Given the description of an element on the screen output the (x, y) to click on. 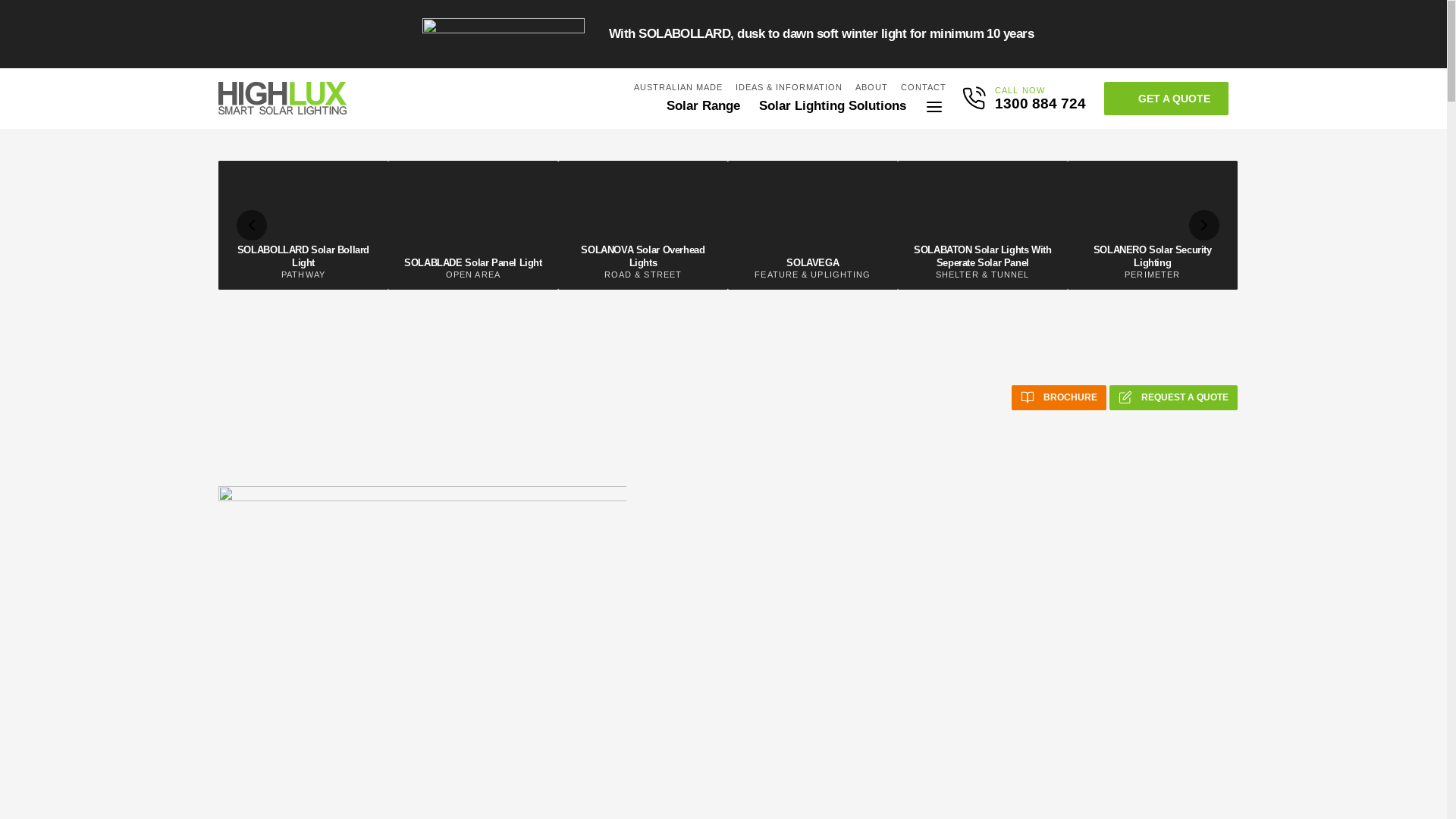
SOLABOLLARD Solar Bollard Light Element type: text (303, 256)
SOLANOVA Solar Overhead Lights Element type: text (642, 256)
SOLABATON Solar Lights With Seperate Solar Panel Element type: text (982, 256)
BROCHURE Element type: text (1058, 397)
CONTACT Element type: text (923, 84)
ABOUT Element type: text (871, 84)
Solar Range Element type: text (702, 105)
SOLANERO Solar Security Lighting Element type: text (1152, 256)
SOLAVEGA Element type: text (812, 262)
REQUEST A QUOTE Element type: text (1173, 397)
HIGHLUX
Smart Solar Lighting Element type: text (282, 98)
IDEAS & INFORMATION Element type: text (789, 84)
CALL NOW
1300 884 724 Element type: text (1039, 97)
Menu Element type: text (934, 106)
Solar Lighting Solutions Element type: text (832, 105)
AUSTRALIAN MADE Element type: text (678, 84)
GET A QUOTE Element type: text (1166, 98)
SOLABLADE Solar Panel Light Element type: text (472, 262)
